Given the description of an element on the screen output the (x, y) to click on. 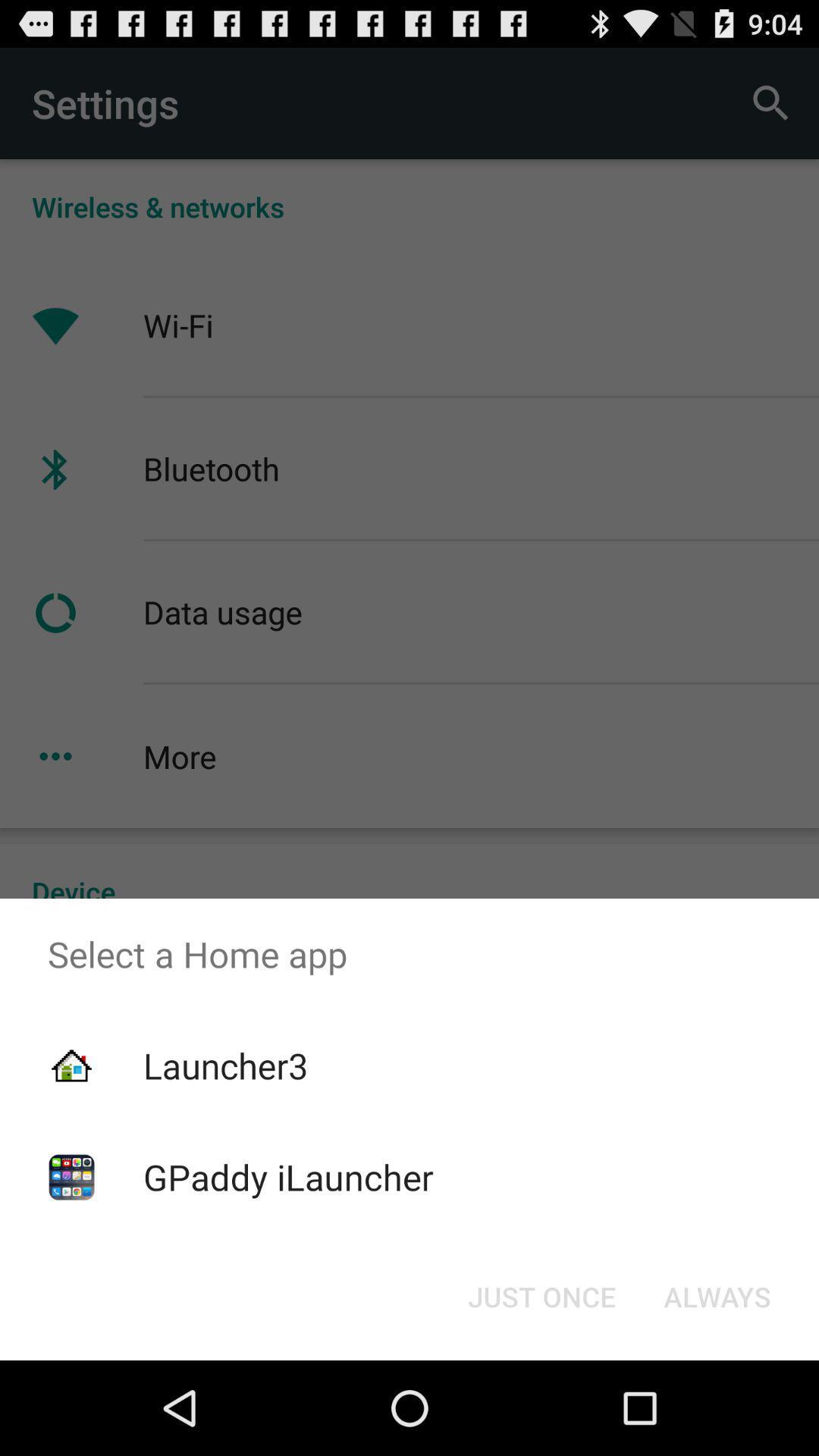
tap the launcher3 icon (225, 1065)
